Given the description of an element on the screen output the (x, y) to click on. 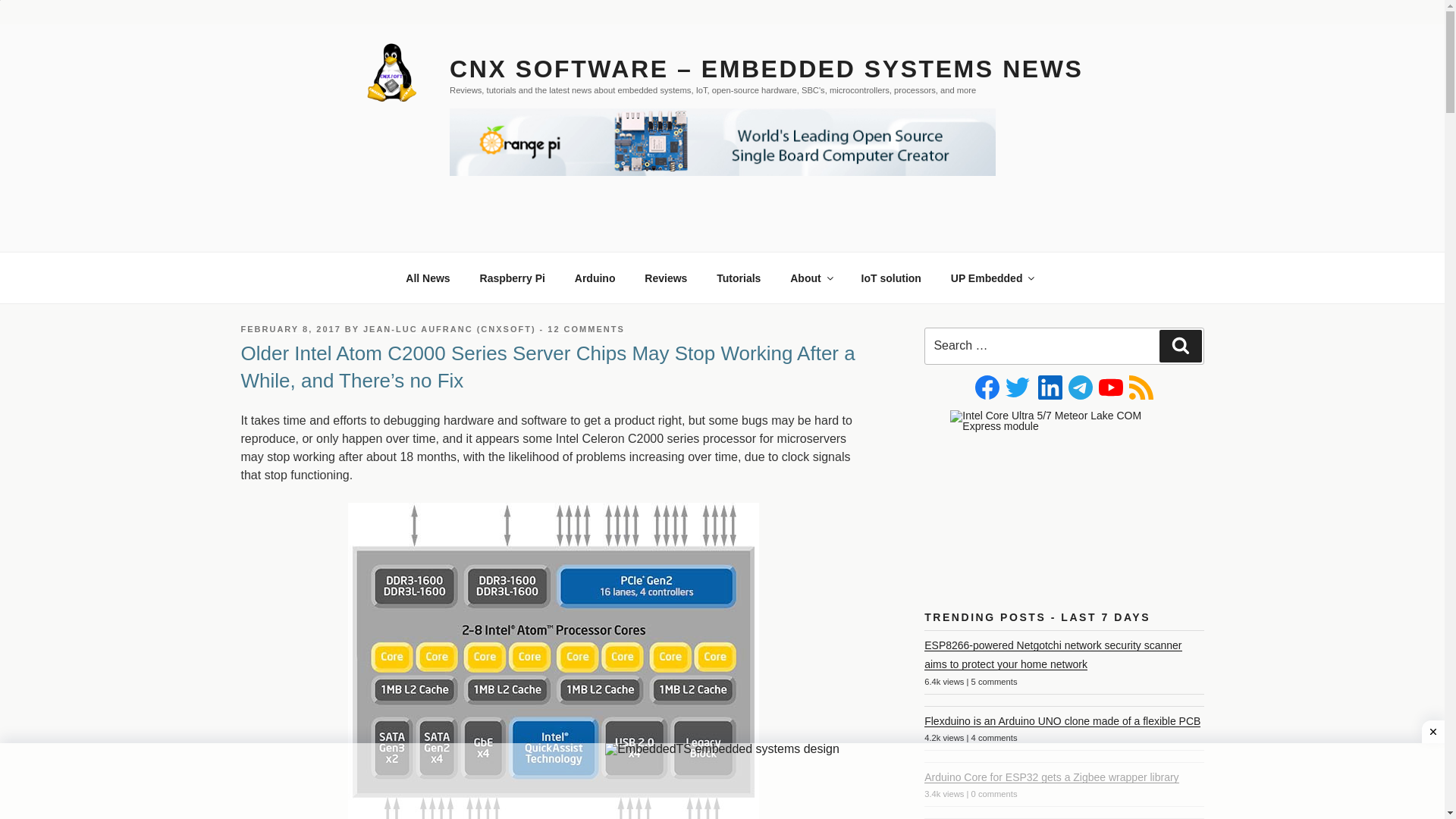
Check out embedded systems and SBCs from our sponsor (991, 278)
About (810, 278)
UP Embedded (991, 278)
All News (428, 278)
Arduino (594, 278)
Raspberry Pi (511, 278)
IoT solution (890, 278)
Reviews (665, 278)
Sponsored (890, 278)
Tutorials (738, 278)
